Given the description of an element on the screen output the (x, y) to click on. 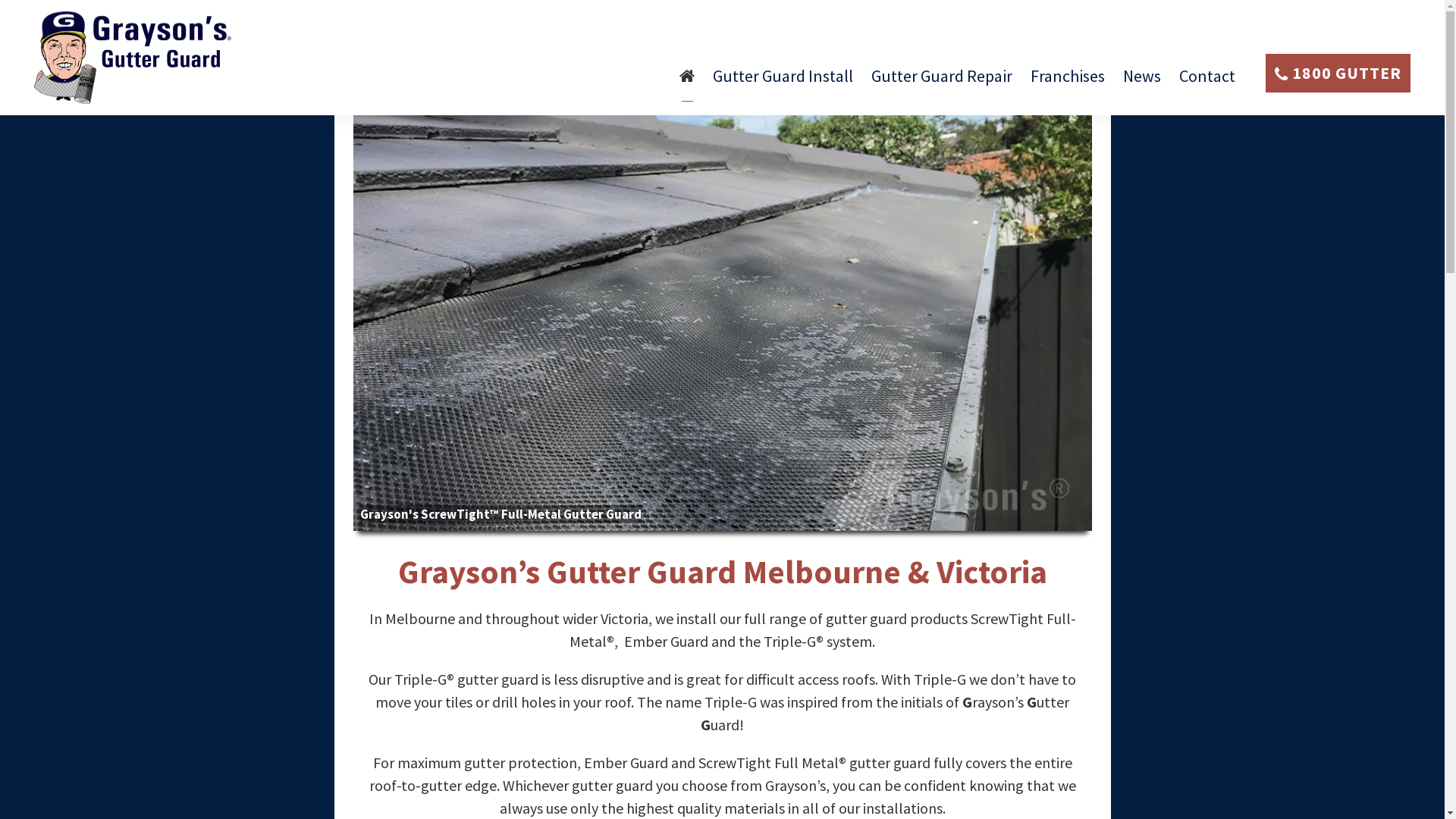
News Element type: text (1142, 82)
Gutter Guard Repair Element type: text (941, 82)
Home Element type: hover (686, 82)
Franchises Element type: text (1067, 82)
1800 GUTTER Element type: text (1337, 72)
Gutter Guard Install Element type: text (782, 82)
Contact Element type: text (1207, 82)
